Given the description of an element on the screen output the (x, y) to click on. 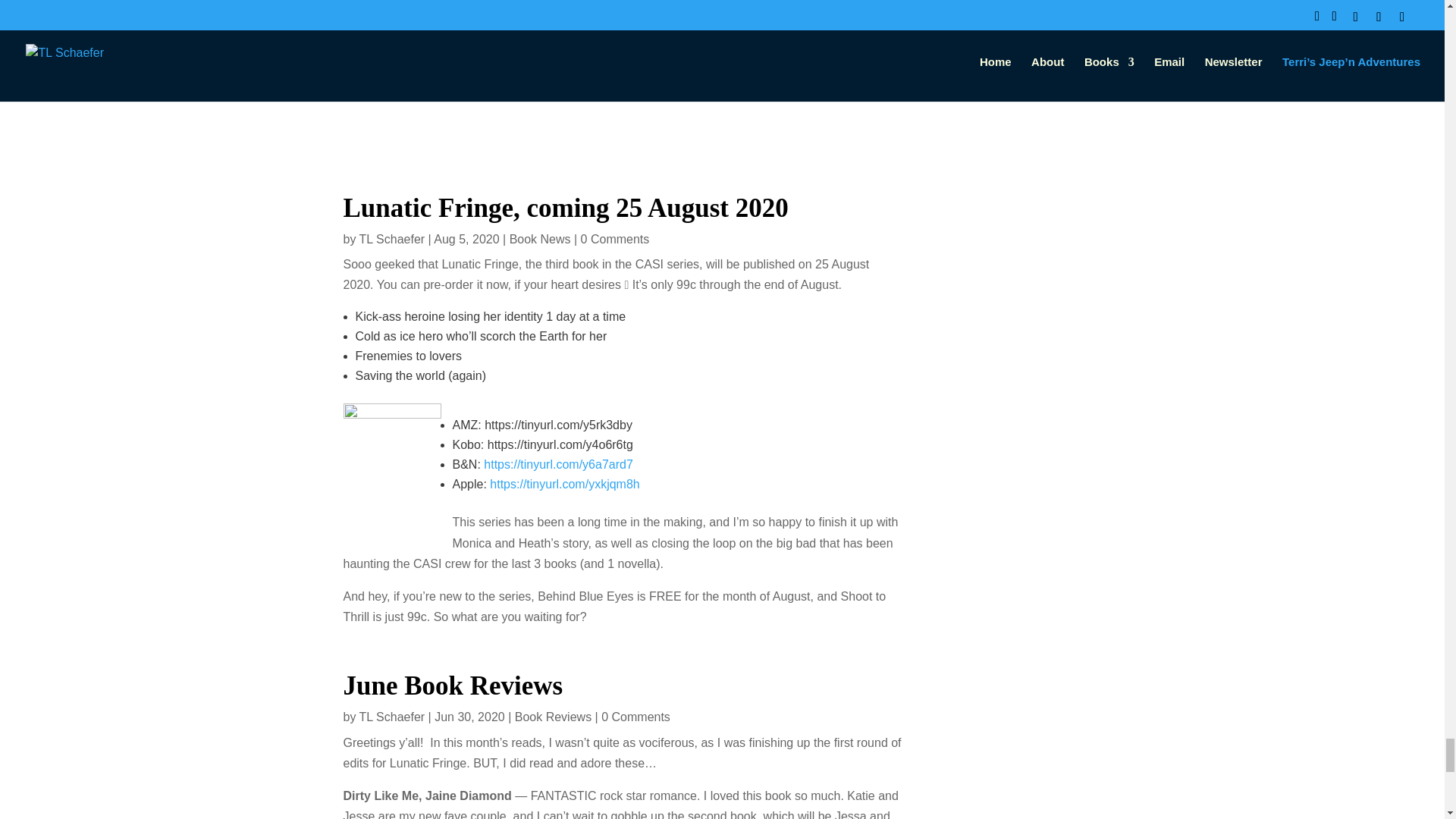
Posts by TL Schaefer (392, 238)
Posts by TL Schaefer (392, 716)
